Given the description of an element on the screen output the (x, y) to click on. 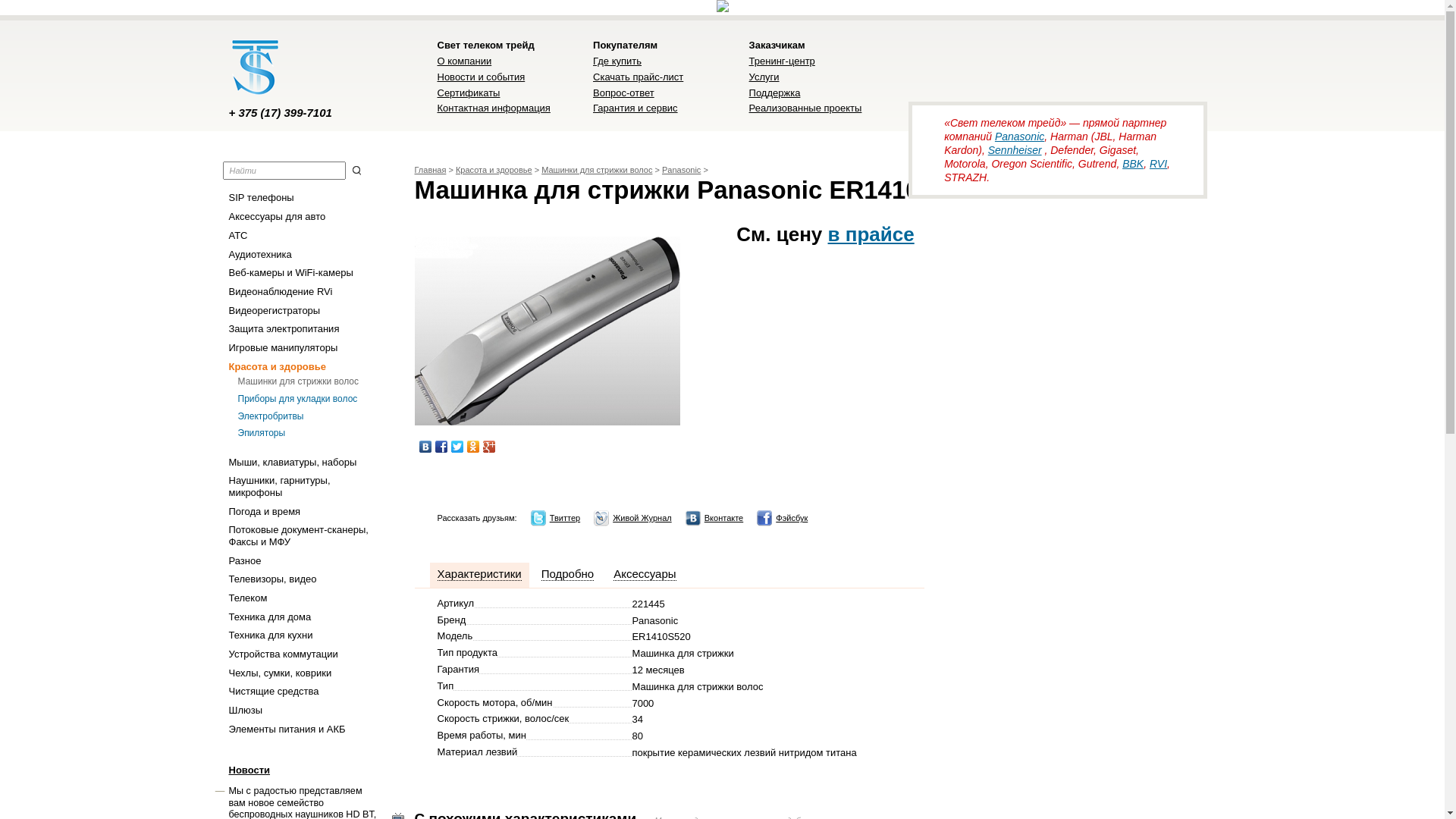
BBK Element type: text (1132, 163)
Panasonic Element type: text (681, 169)
Google Plus Element type: hover (488, 446)
RVI Element type: text (1158, 163)
Twitter Element type: hover (456, 446)
Facebook Element type: hover (441, 446)
Panasonic Element type: text (1019, 136)
Sennheiser Element type: text (1014, 150)
